Given the description of an element on the screen output the (x, y) to click on. 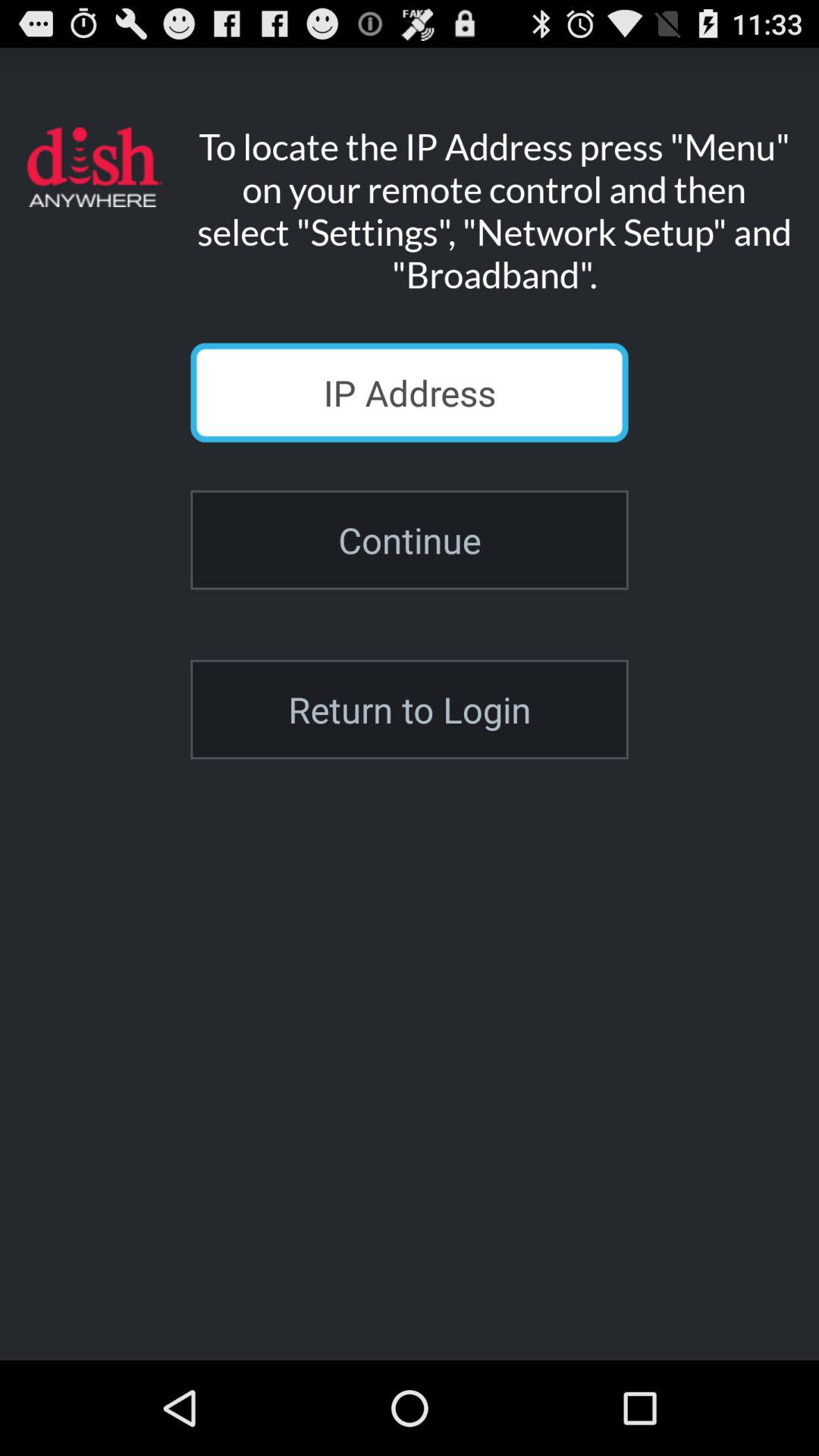
type ip address (409, 392)
